Given the description of an element on the screen output the (x, y) to click on. 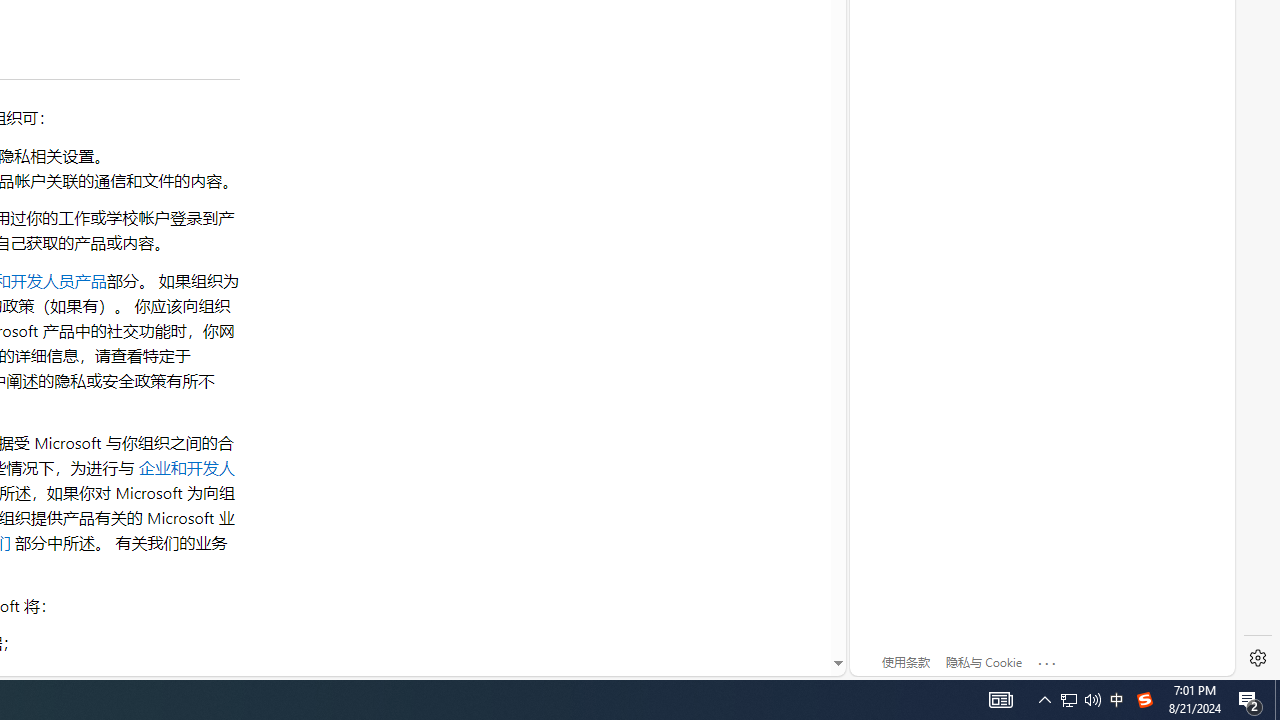
Notification Chevron (1044, 699)
Show desktop (1069, 699)
AutomationID: 4105 (1277, 699)
User Promoted Notification Area (1000, 699)
Q2790: 100% (1080, 699)
Action Center, 2 new notifications (1092, 699)
Tray Input Indicator - Chinese (Simplified, China) (1250, 699)
